Given the description of an element on the screen output the (x, y) to click on. 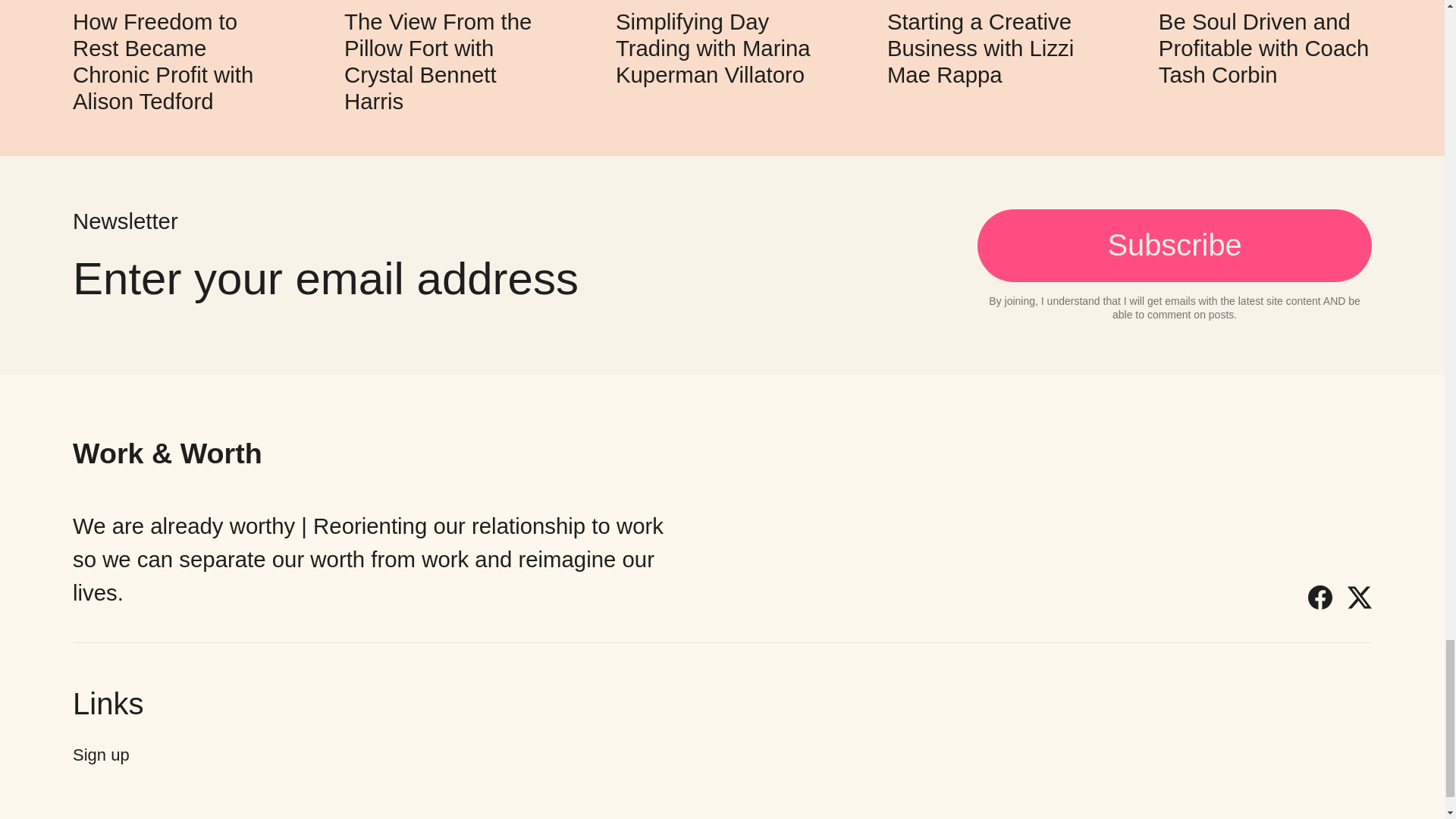
Simplifying Day Trading with Marina Kuperman Villatoro (712, 47)
Starting a Creative Business with Lizzi Mae Rappa (980, 47)
Be Soul Driven and Profitable with Coach Tash Corbin (1263, 47)
Sign up (100, 754)
Subscribe (1173, 245)
The View From the Pillow Fort with Crystal Bennett Harris (437, 61)
